Given the description of an element on the screen output the (x, y) to click on. 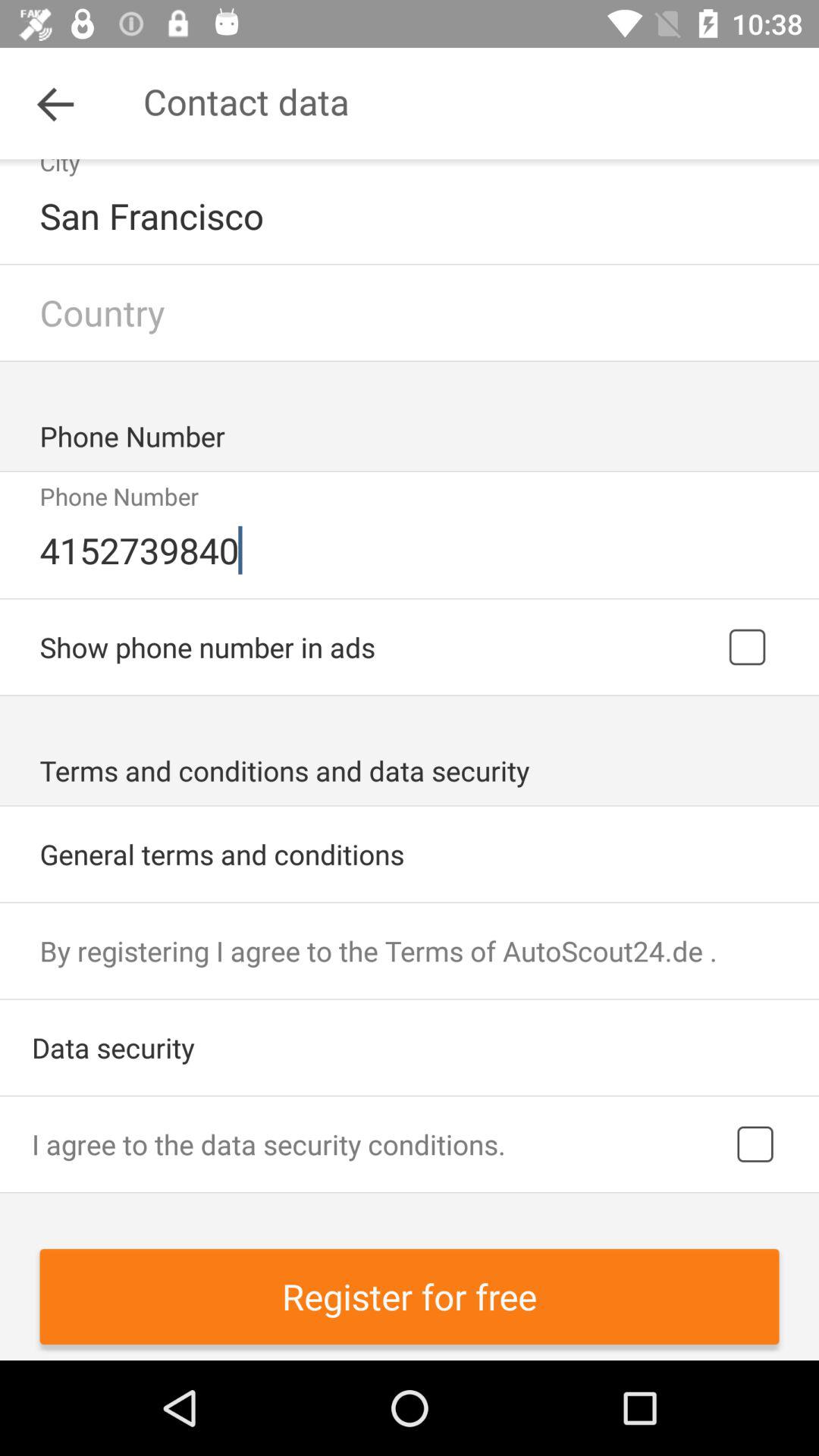
tap the 4152739840 icon (411, 550)
